Given the description of an element on the screen output the (x, y) to click on. 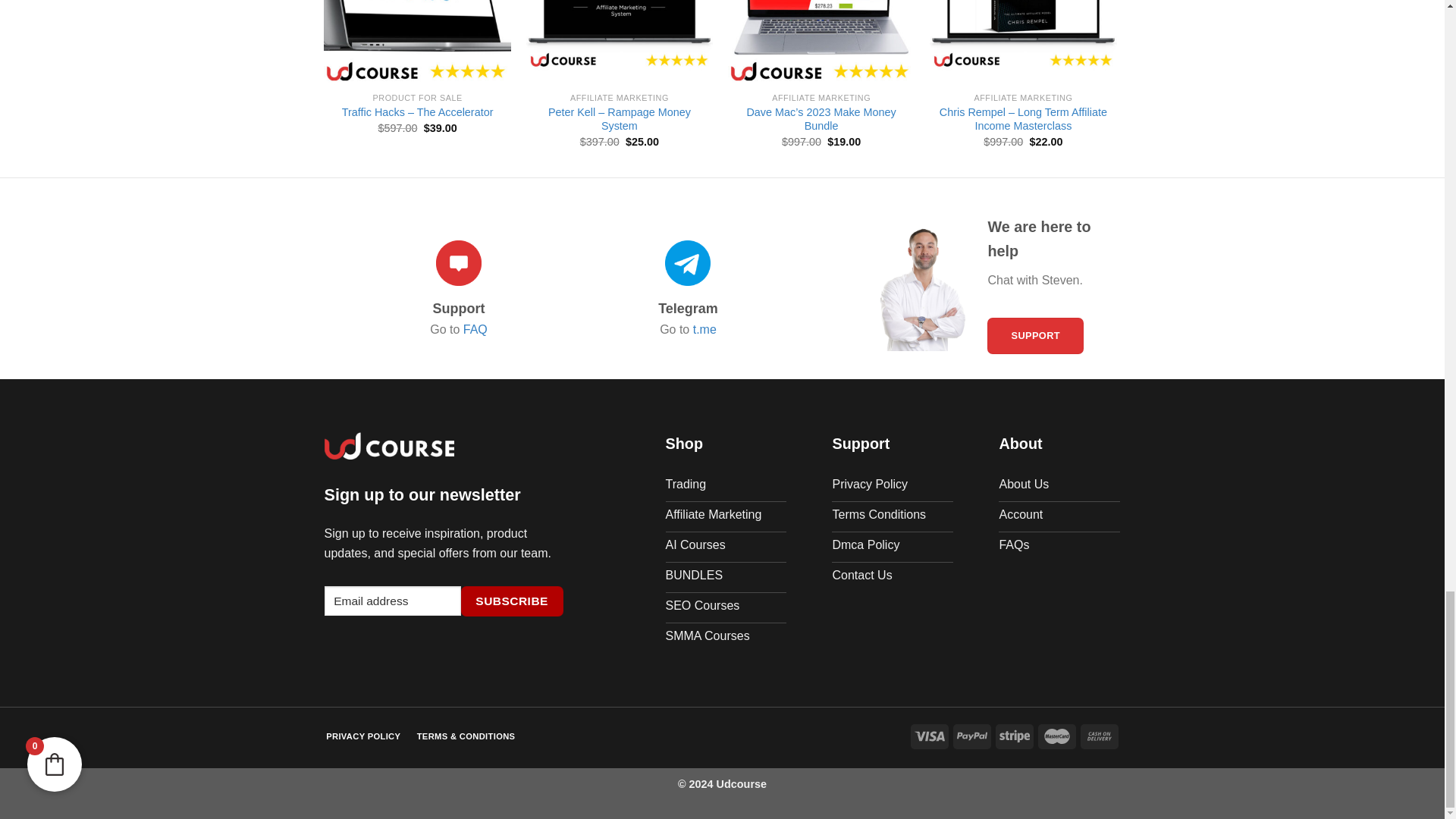
Email address (392, 600)
